Given the description of an element on the screen output the (x, y) to click on. 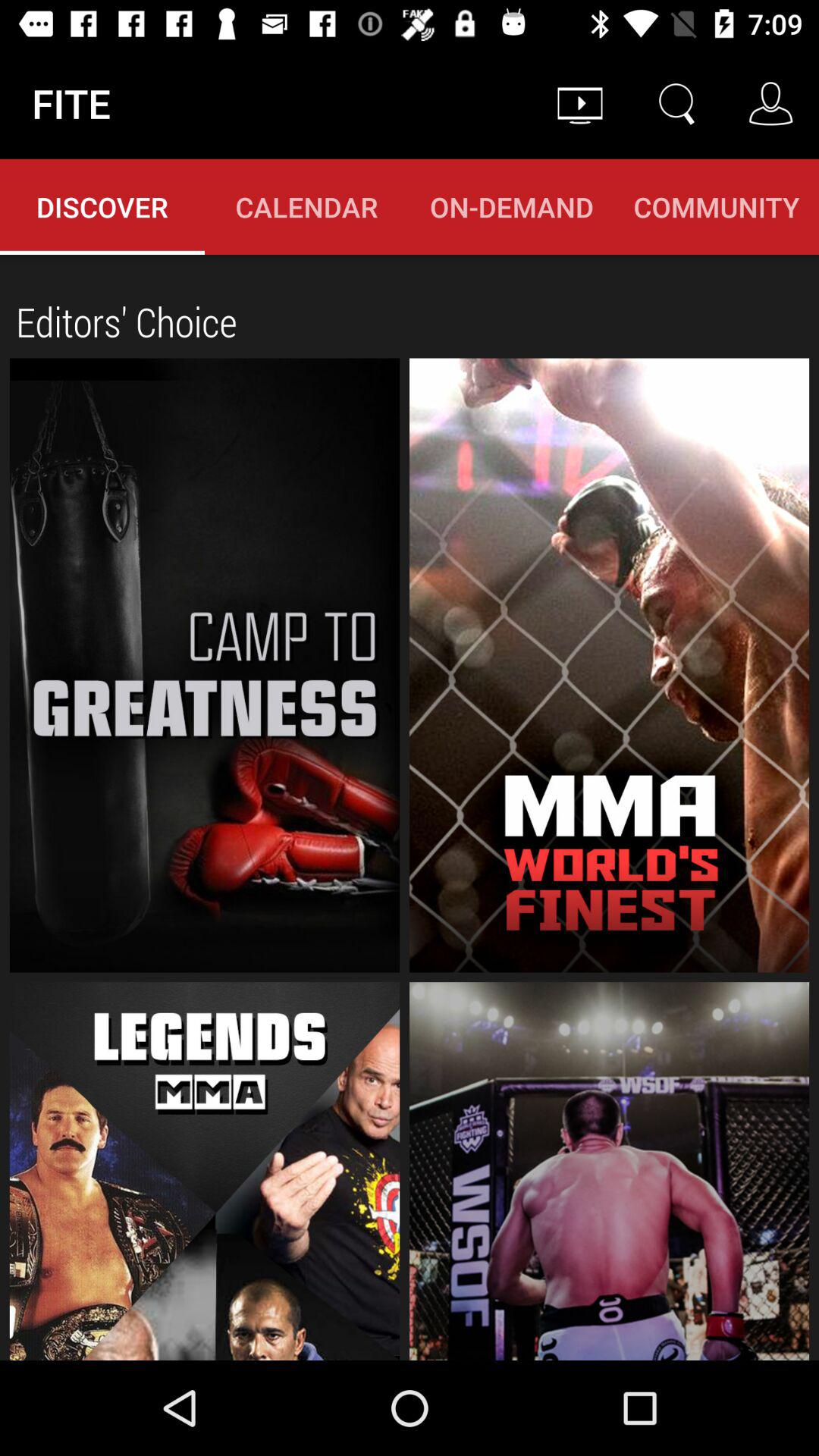
select show 'camp to greatness (204, 665)
